Given the description of an element on the screen output the (x, y) to click on. 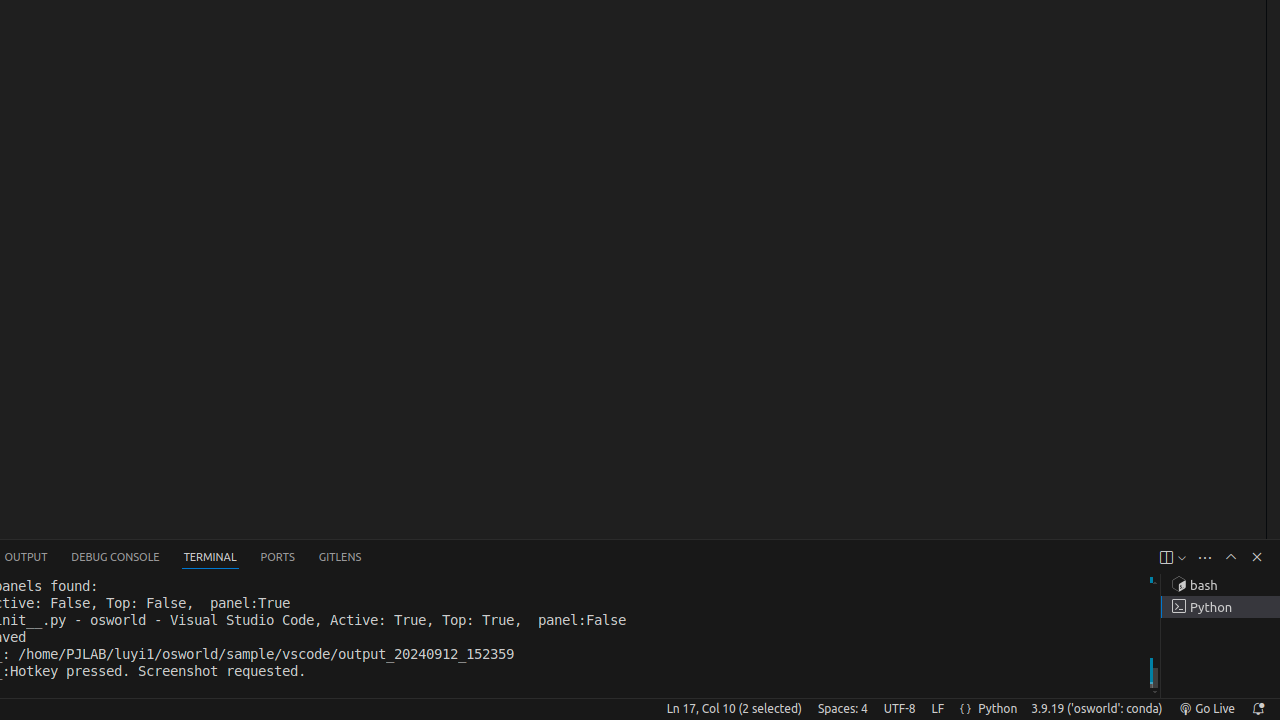
Spaces: 4 Element type: push-button (842, 709)
Debug Console (Ctrl+Shift+Y) Element type: page-tab (115, 557)
broadcast Go Live, Click to run live server Element type: push-button (1206, 709)
Notifications Element type: push-button (1258, 709)
LF Element type: push-button (938, 709)
